Given the description of an element on the screen output the (x, y) to click on. 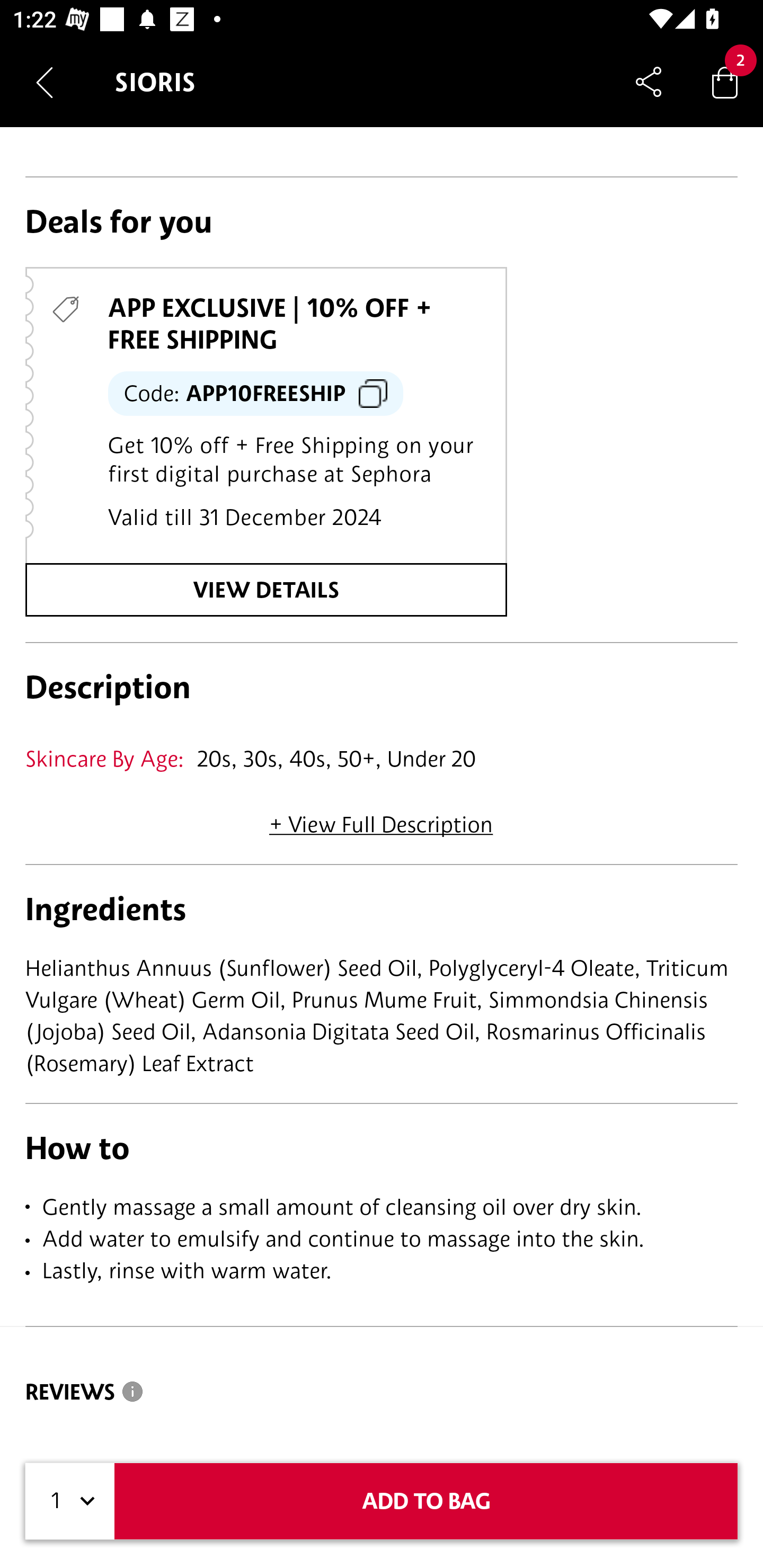
Navigate up (44, 82)
Share (648, 81)
Bag (724, 81)
VIEW DETAILS (266, 589)
+ View Full Description (380, 818)
1 (69, 1500)
ADD TO BAG (425, 1500)
